Given the description of an element on the screen output the (x, y) to click on. 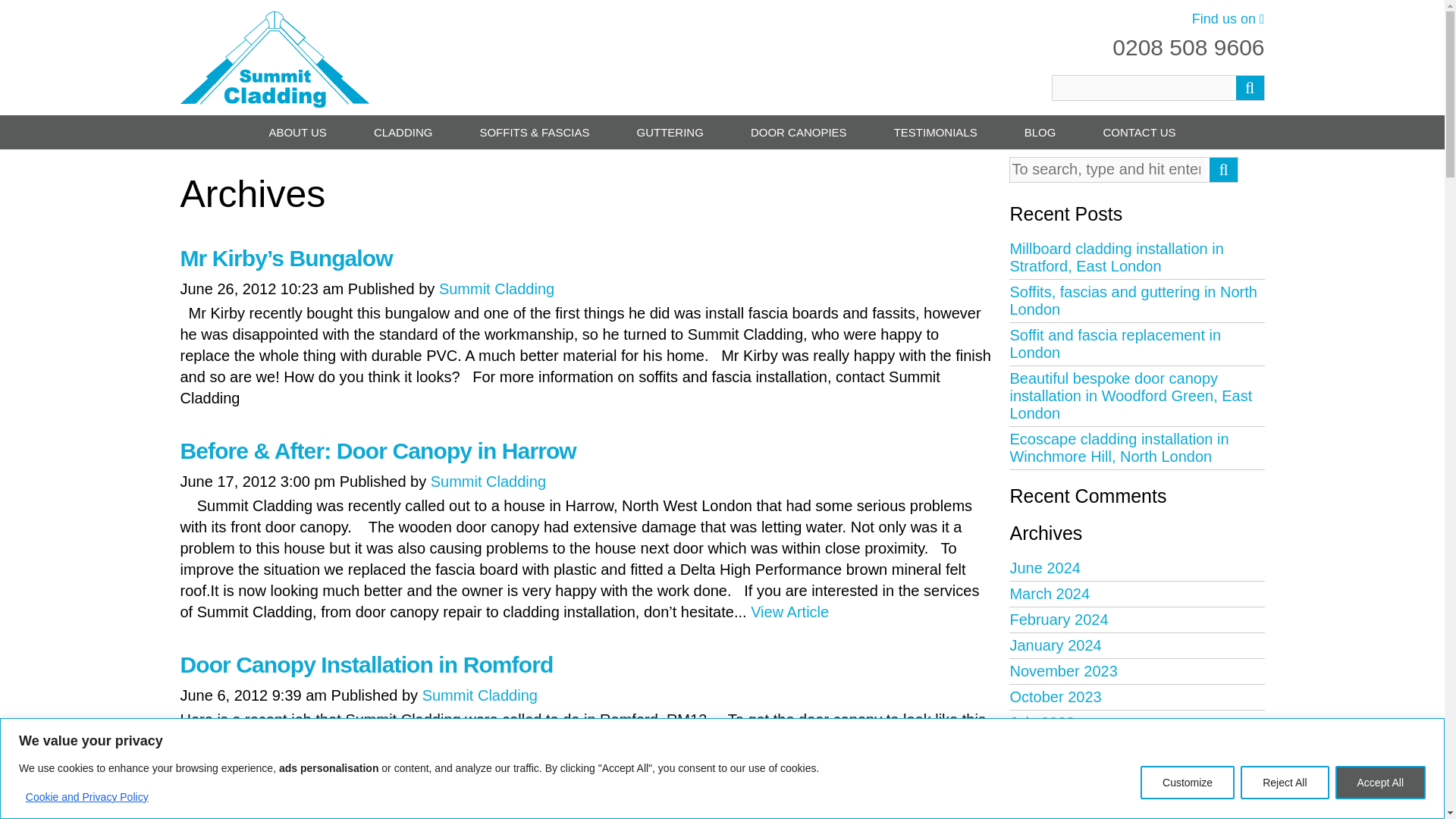
GUTTERING (669, 131)
0208 508 9606 (1187, 47)
Customize (1187, 782)
DOOR CANOPIES (798, 131)
Posts by Summit Cladding (488, 481)
Reject All (1283, 782)
CLADDING (402, 131)
Door Canopy Installation in Romford (366, 664)
Cookie and Privacy Policy (86, 796)
Accept All (1380, 782)
